Given the description of an element on the screen output the (x, y) to click on. 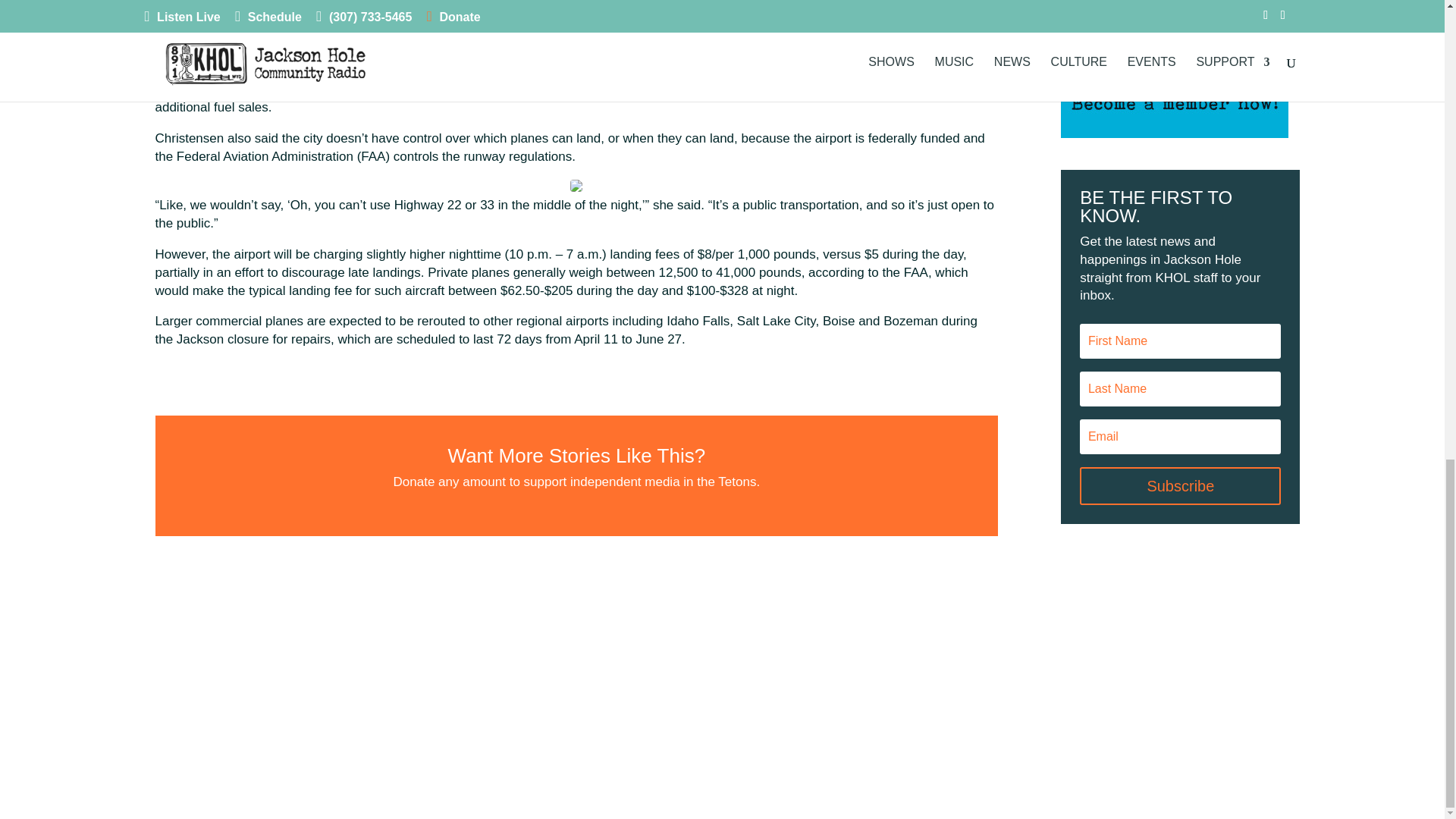
KHOL-Jackson-Hole-Community-Radio-Membership-Support-Ad-1 (1174, 69)
Subscribe (1180, 485)
